Given the description of an element on the screen output the (x, y) to click on. 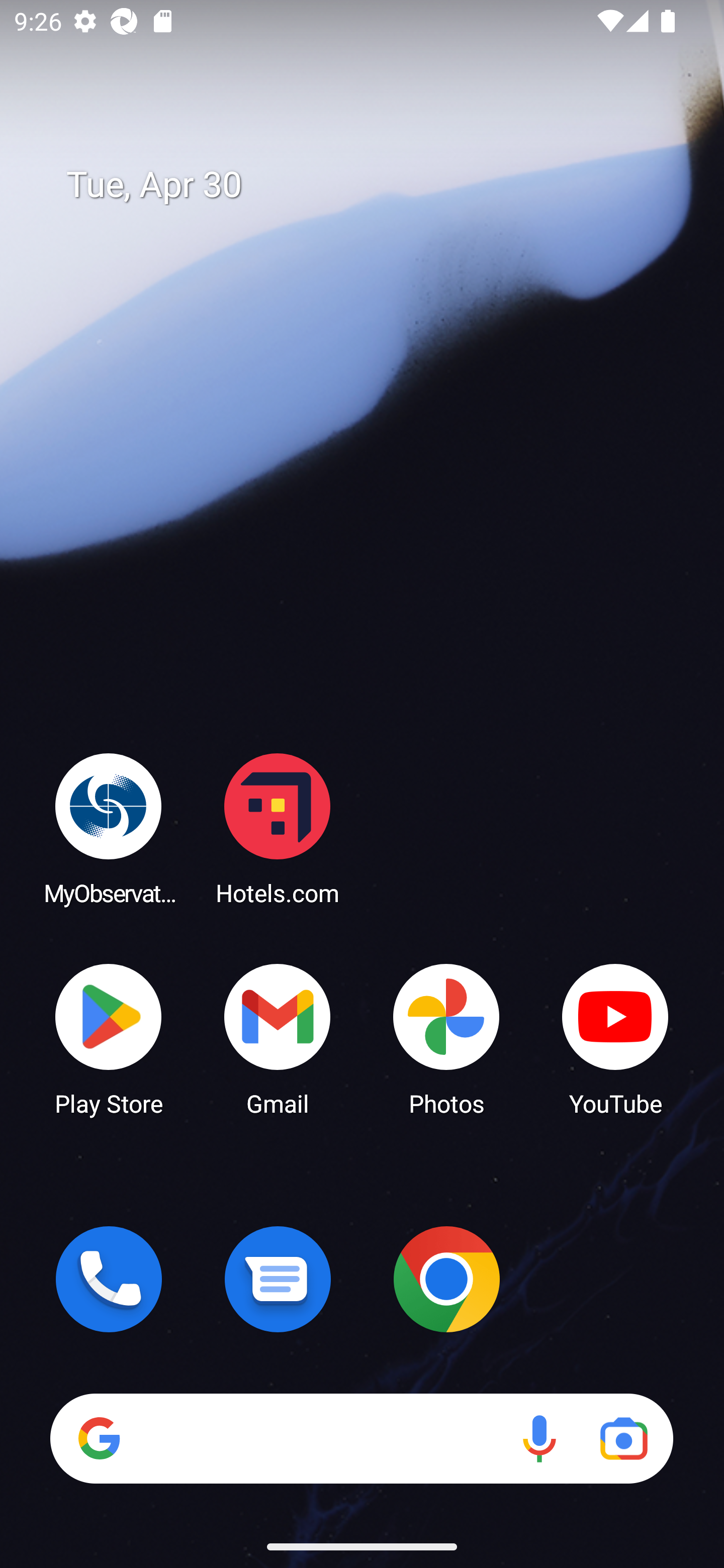
Tue, Apr 30 (375, 184)
MyObservatory (108, 828)
Hotels.com (277, 828)
Play Store (108, 1038)
Gmail (277, 1038)
Photos (445, 1038)
YouTube (615, 1038)
Phone (108, 1279)
Messages (277, 1279)
Chrome (446, 1279)
Voice search (539, 1438)
Google Lens (623, 1438)
